Given the description of an element on the screen output the (x, y) to click on. 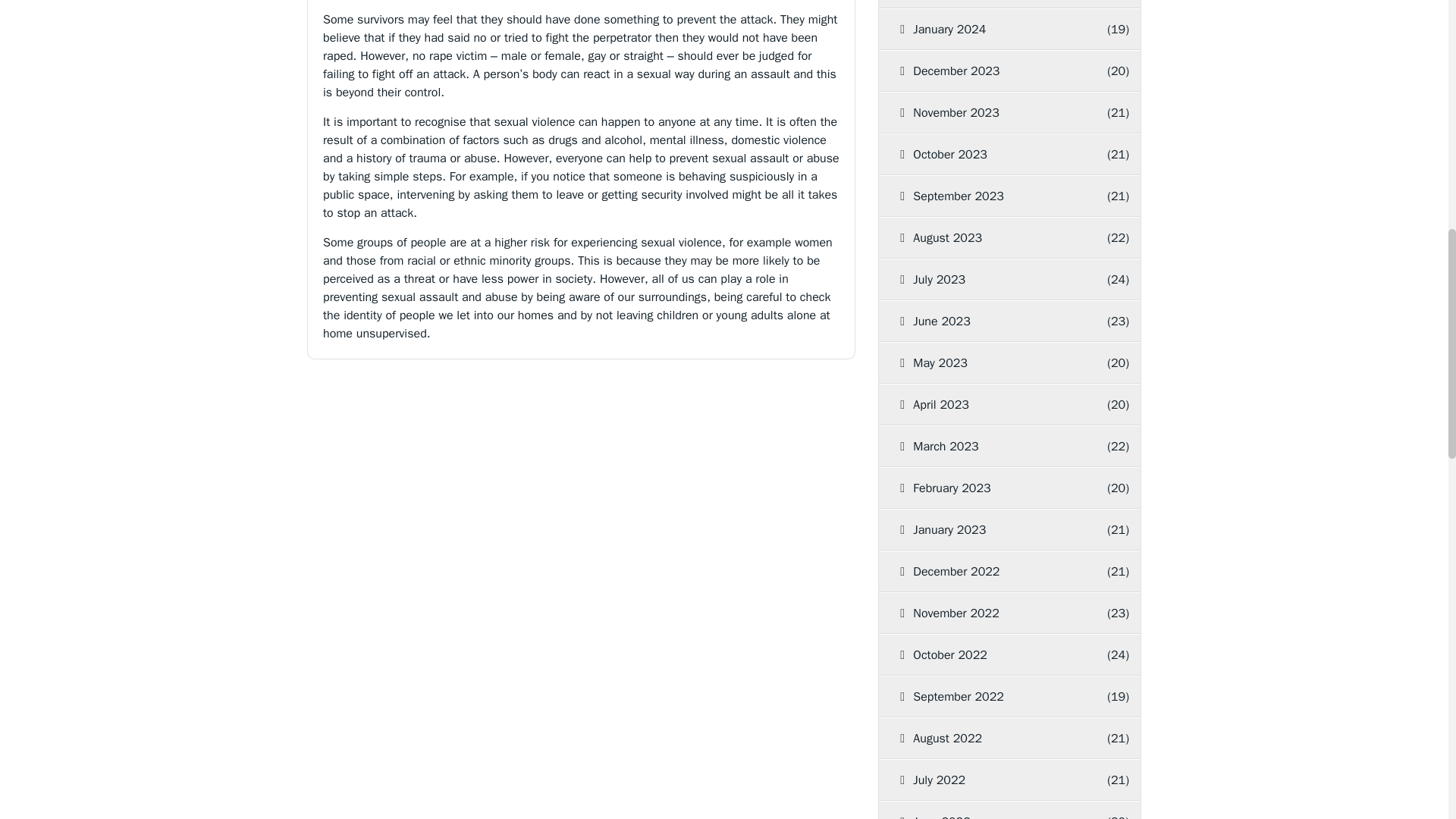
August 2023 (991, 237)
February 2024 (994, 4)
July 2023 (991, 279)
April 2023 (991, 404)
October 2023 (991, 154)
September 2023 (991, 196)
January 2024 (991, 29)
November 2023 (991, 112)
January 2023 (991, 529)
June 2023 (991, 321)
